Given the description of an element on the screen output the (x, y) to click on. 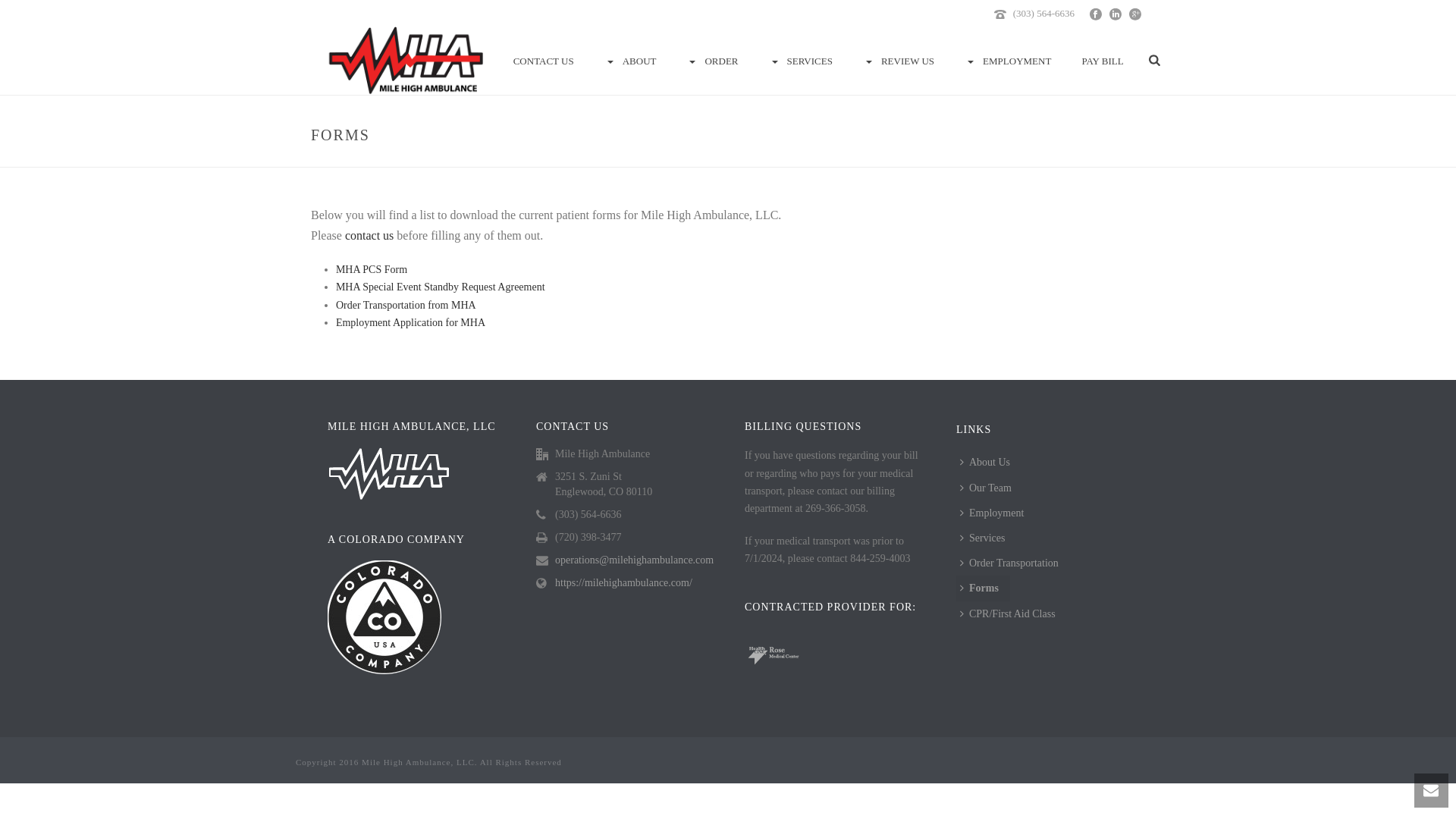
ABOUT (630, 61)
CONTACT US (543, 61)
REVIEW US (898, 61)
SERVICES (800, 61)
ORDER (711, 61)
ORDER (711, 61)
CONTACT US (543, 61)
REVIEW US (898, 61)
ABOUT (630, 61)
PAY BILL (1101, 61)
